Given the description of an element on the screen output the (x, y) to click on. 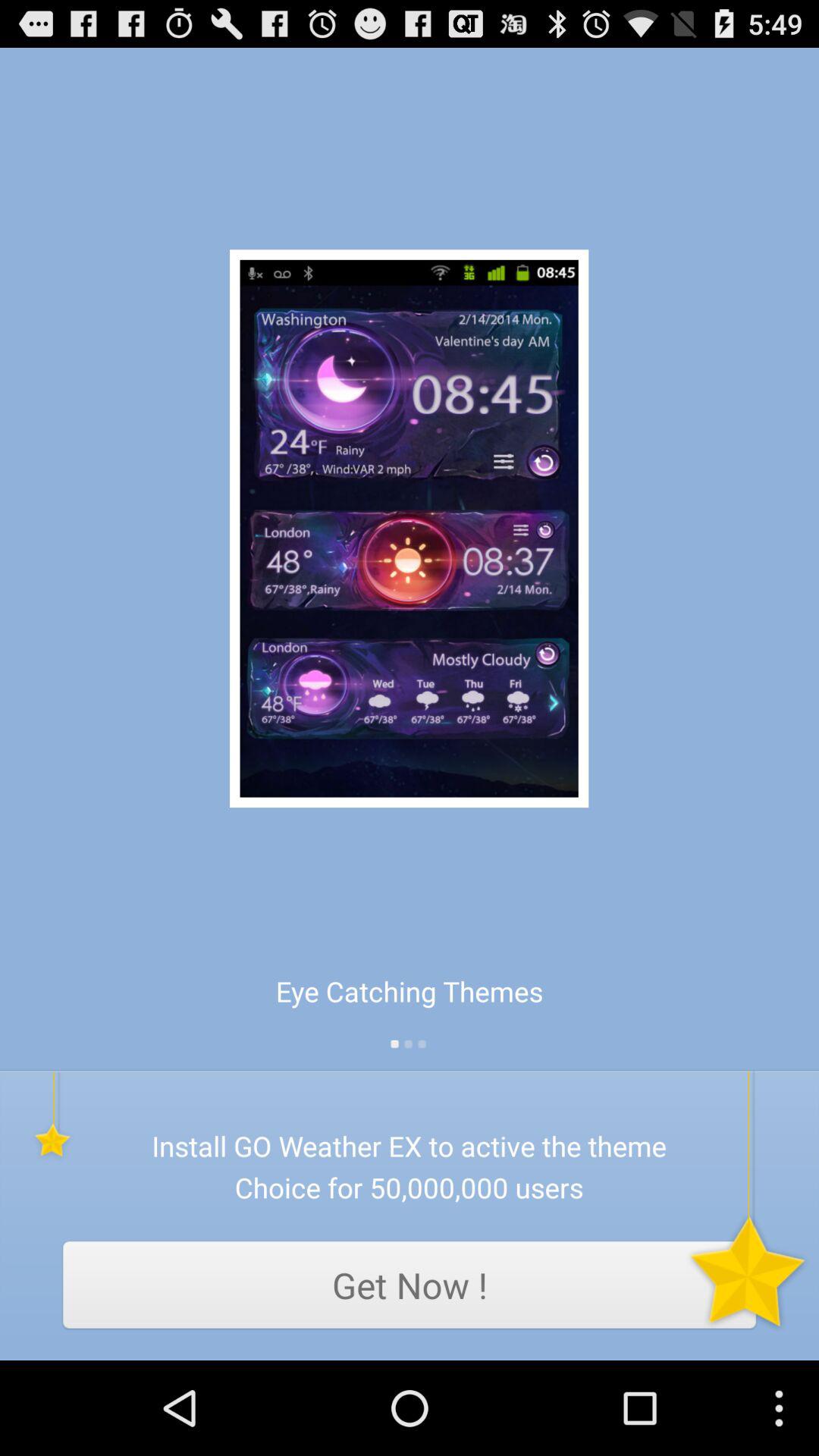
tap get now ! item (409, 1285)
